Given the description of an element on the screen output the (x, y) to click on. 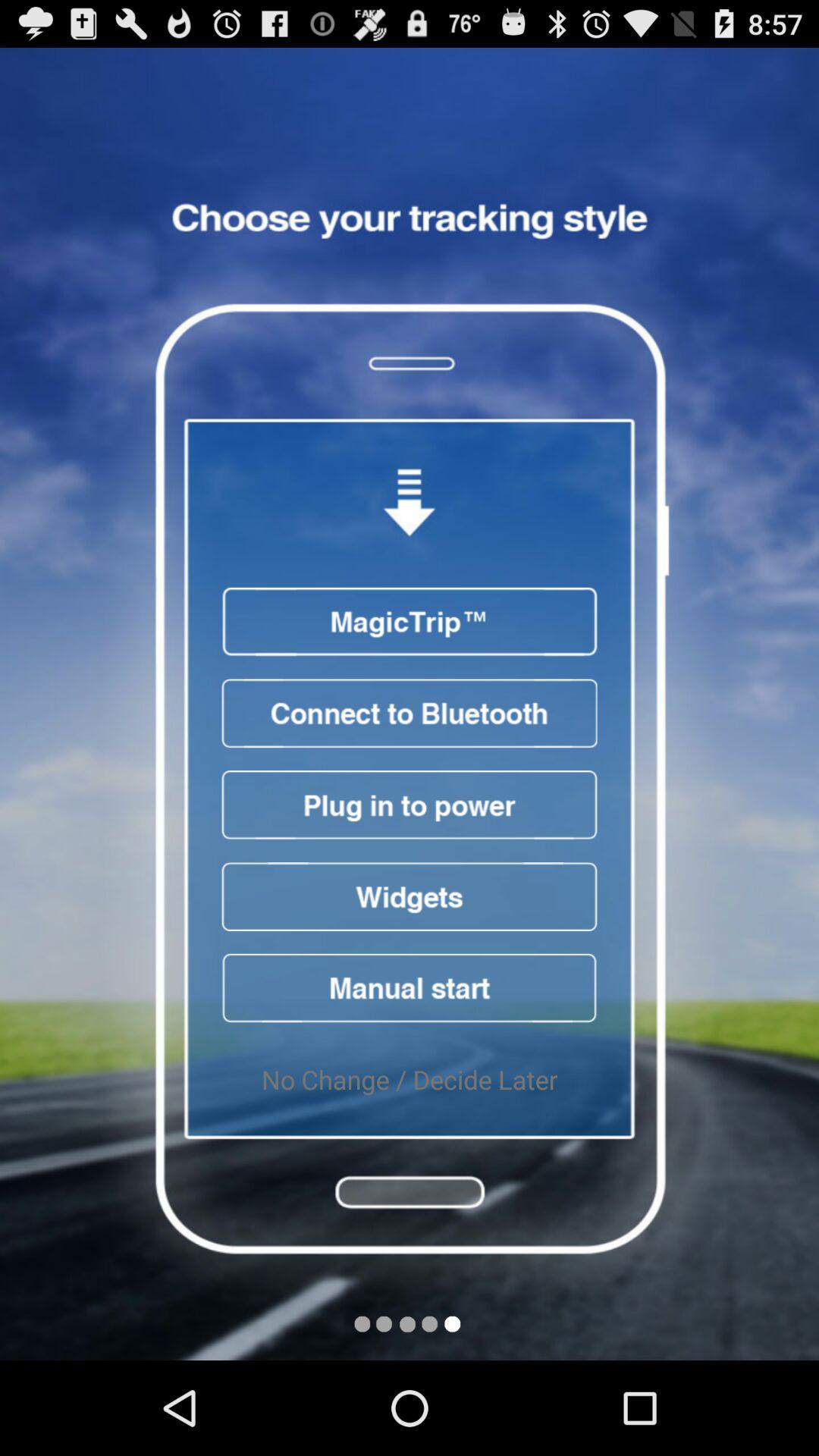
go to widgets (409, 896)
